Given the description of an element on the screen output the (x, y) to click on. 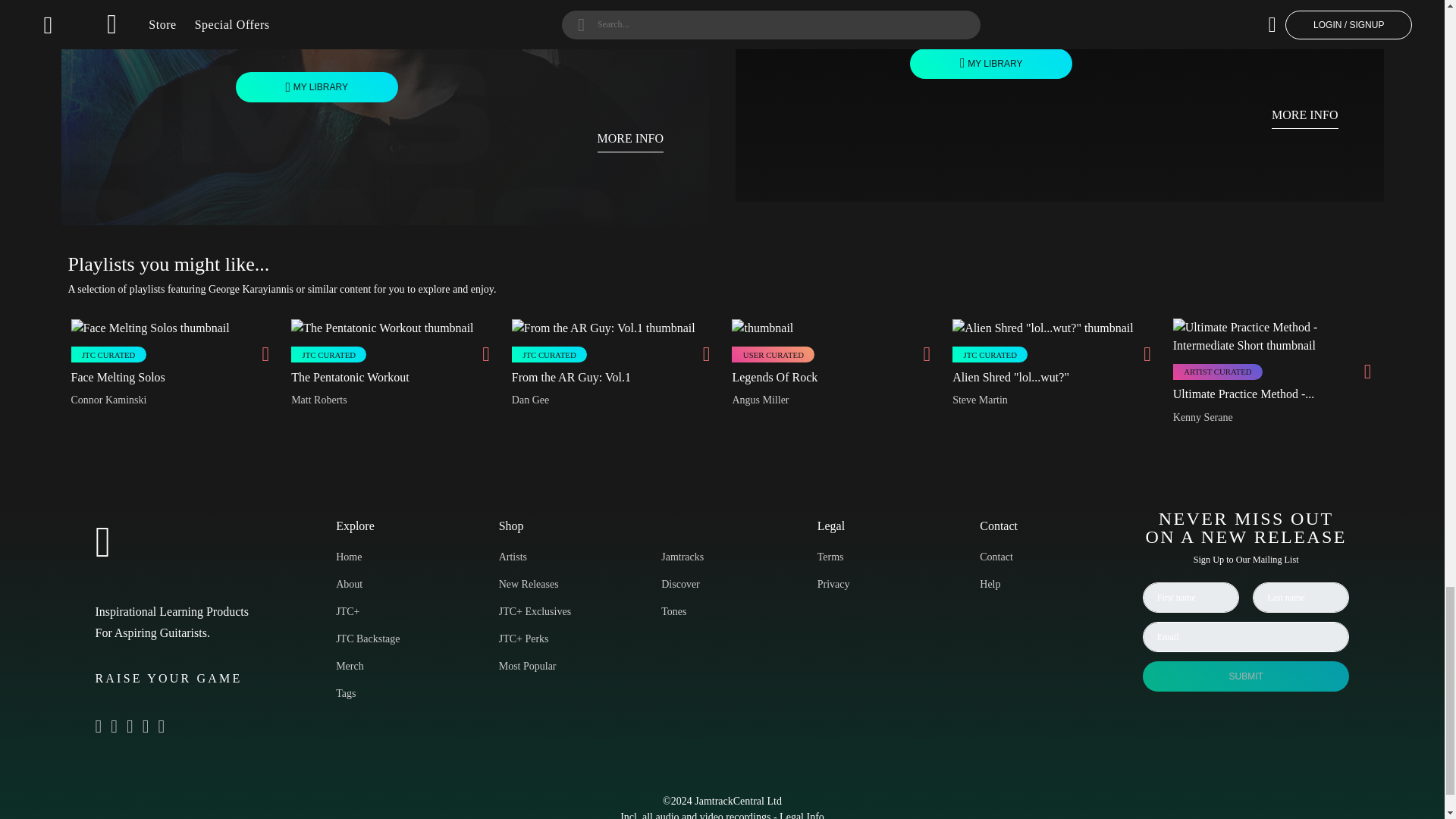
Legends Of Rock (774, 377)
The Pentatonic Workout (350, 377)
From the AR Guy: Vol.1 (571, 377)
Add to Lib (990, 63)
Add to Lib (316, 87)
Face Melting Solos (118, 377)
